Given the description of an element on the screen output the (x, y) to click on. 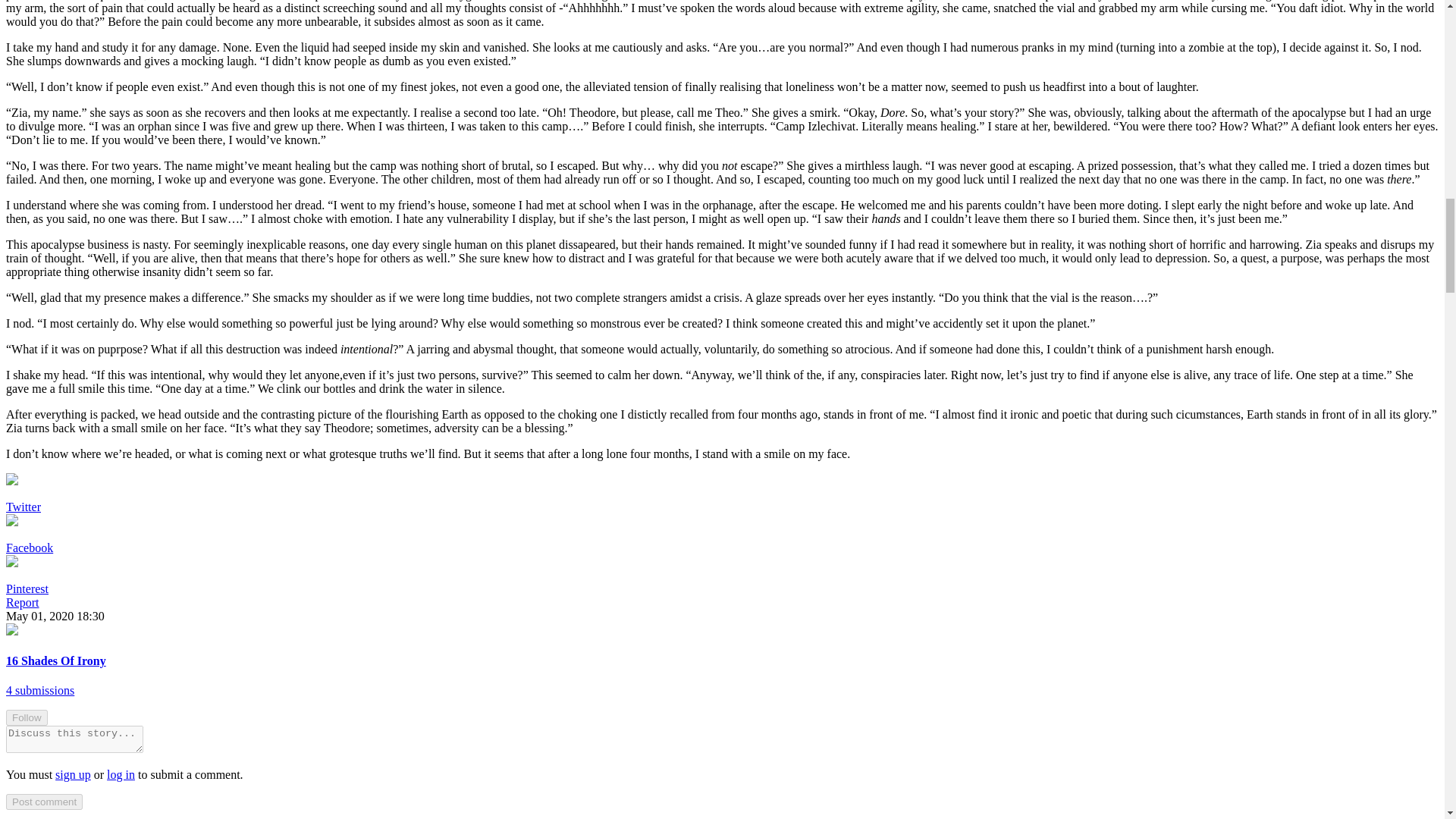
Post comment (43, 801)
